Given the description of an element on the screen output the (x, y) to click on. 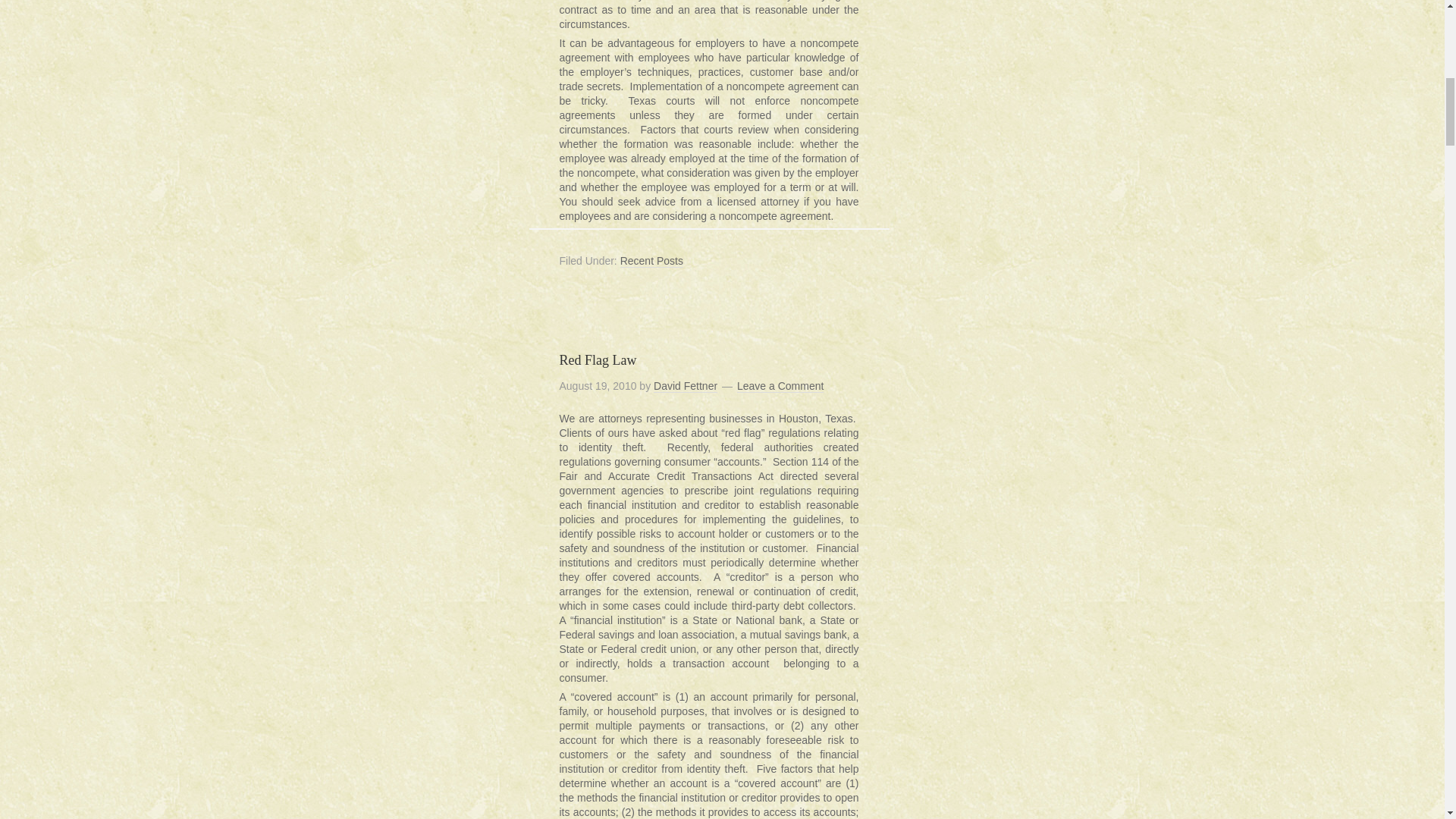
Recent Posts (651, 260)
David Fettner (685, 386)
Leave a Comment (780, 386)
Red Flag Law (598, 359)
